Given the description of an element on the screen output the (x, y) to click on. 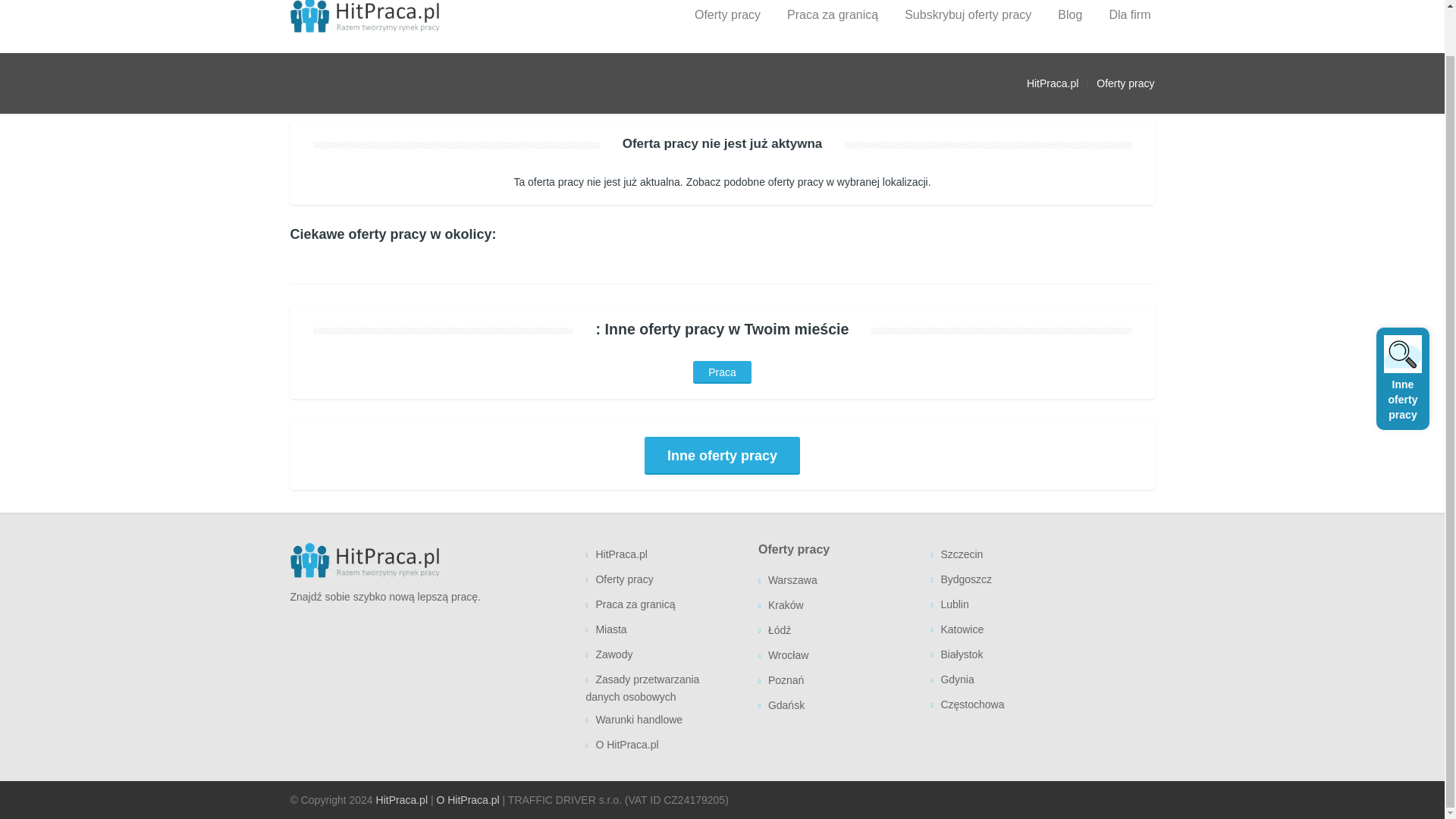
Zawody Oferty pracy (660, 655)
Oferty pracy (727, 26)
HitPraca.pl - oferty pracy (367, 14)
Oferty pracy (660, 580)
Inne oferty pracy (722, 455)
Gdynia (1005, 680)
HitPraca.pl - oferty pracy (367, 564)
HitPraca.pl (660, 555)
Praca Warszawa (832, 580)
Warunki handlowe (660, 720)
